Given the description of an element on the screen output the (x, y) to click on. 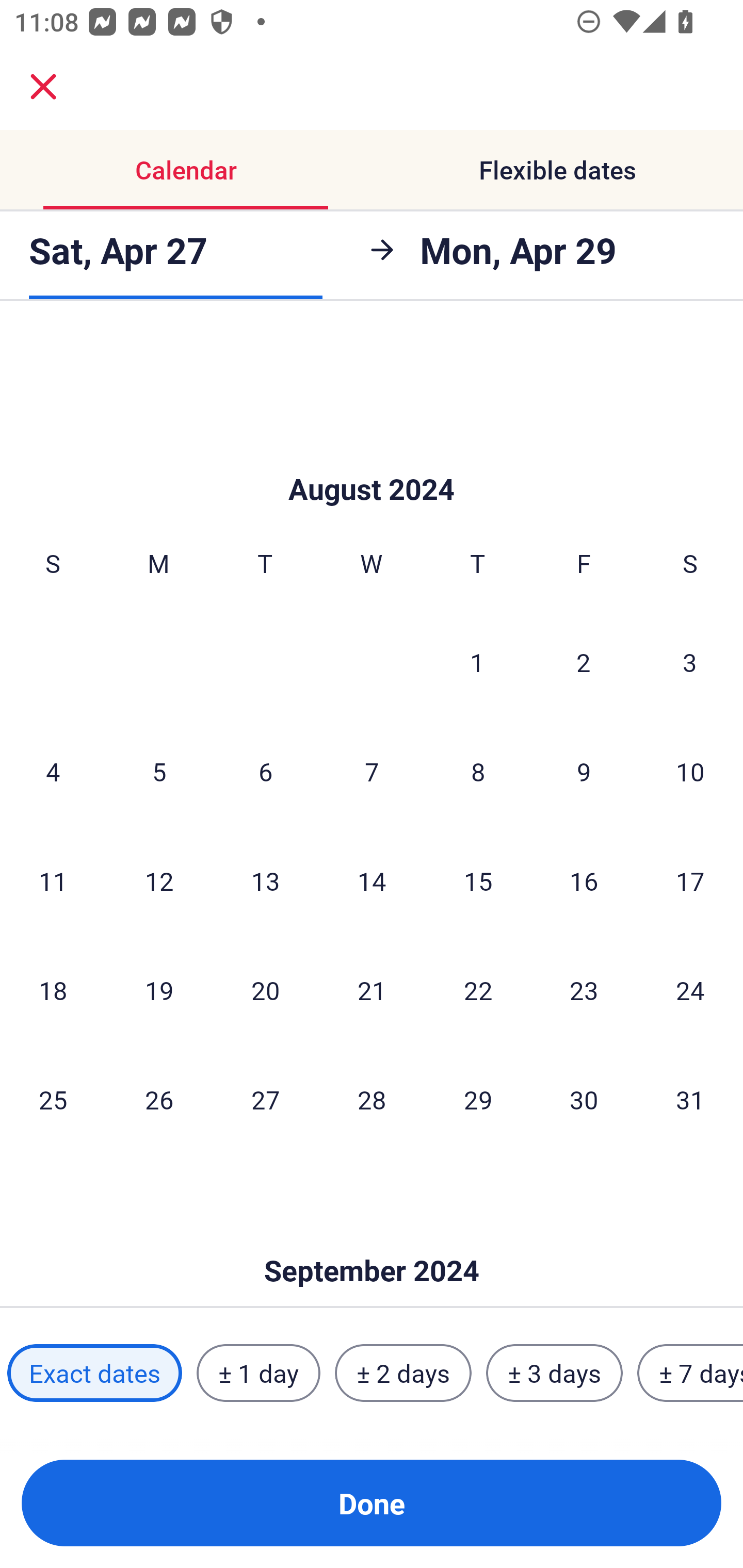
close. (43, 86)
Flexible dates (557, 170)
Skip to Done (371, 458)
1 Thursday, August 1, 2024 (477, 661)
2 Friday, August 2, 2024 (583, 661)
3 Saturday, August 3, 2024 (689, 661)
4 Sunday, August 4, 2024 (53, 771)
5 Monday, August 5, 2024 (159, 771)
6 Tuesday, August 6, 2024 (265, 771)
7 Wednesday, August 7, 2024 (371, 771)
8 Thursday, August 8, 2024 (477, 771)
9 Friday, August 9, 2024 (584, 771)
10 Saturday, August 10, 2024 (690, 771)
11 Sunday, August 11, 2024 (53, 879)
12 Monday, August 12, 2024 (159, 879)
13 Tuesday, August 13, 2024 (265, 879)
14 Wednesday, August 14, 2024 (371, 879)
15 Thursday, August 15, 2024 (477, 879)
16 Friday, August 16, 2024 (584, 879)
17 Saturday, August 17, 2024 (690, 879)
18 Sunday, August 18, 2024 (53, 989)
19 Monday, August 19, 2024 (159, 989)
20 Tuesday, August 20, 2024 (265, 989)
21 Wednesday, August 21, 2024 (371, 989)
22 Thursday, August 22, 2024 (477, 989)
23 Friday, August 23, 2024 (584, 989)
24 Saturday, August 24, 2024 (690, 989)
25 Sunday, August 25, 2024 (53, 1098)
26 Monday, August 26, 2024 (159, 1098)
27 Tuesday, August 27, 2024 (265, 1098)
28 Wednesday, August 28, 2024 (371, 1098)
29 Thursday, August 29, 2024 (477, 1098)
30 Friday, August 30, 2024 (584, 1098)
31 Saturday, August 31, 2024 (690, 1098)
Skip to Done (371, 1239)
Exact dates (94, 1372)
± 1 day (258, 1372)
± 2 days (403, 1372)
± 3 days (553, 1372)
± 7 days (690, 1372)
Done (371, 1502)
